Given the description of an element on the screen output the (x, y) to click on. 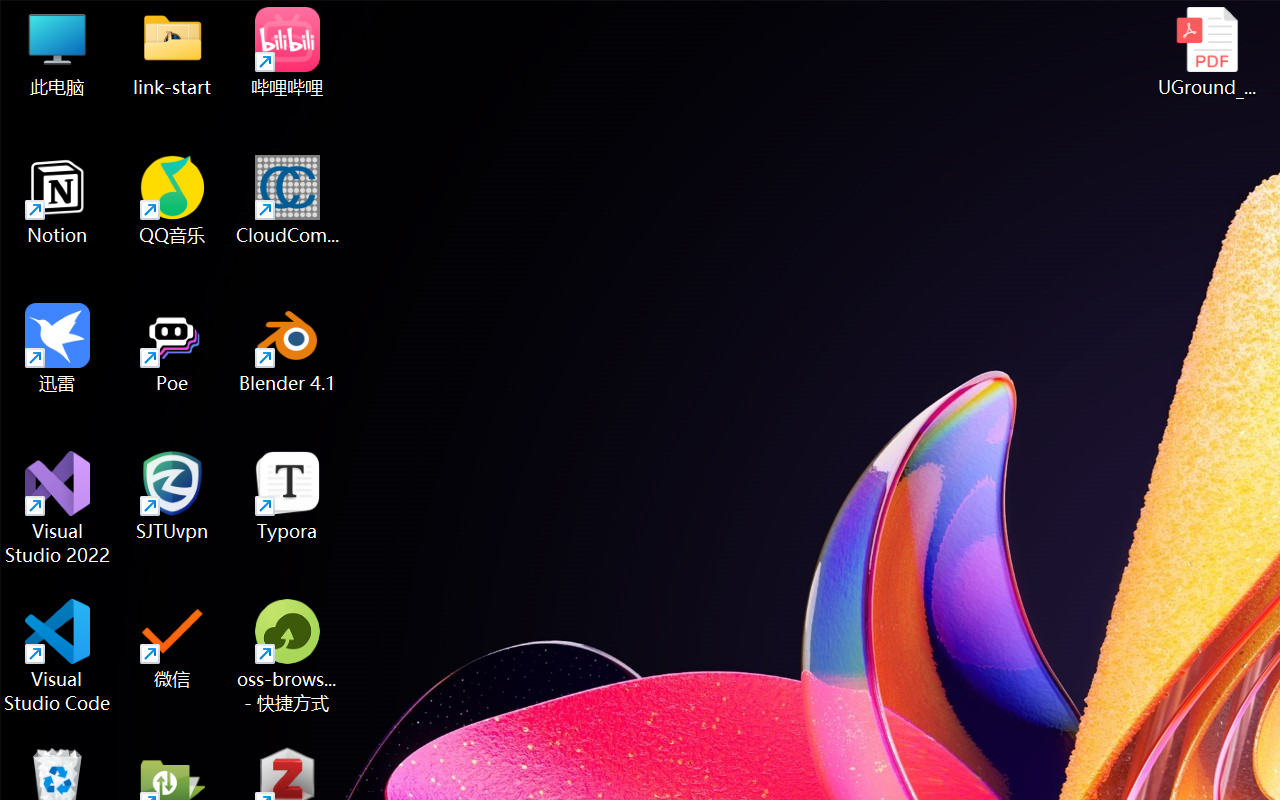
Pencil: Gray, 1 mm (497, 173)
Ink to Math (954, 179)
Format Background (774, 179)
